Given the description of an element on the screen output the (x, y) to click on. 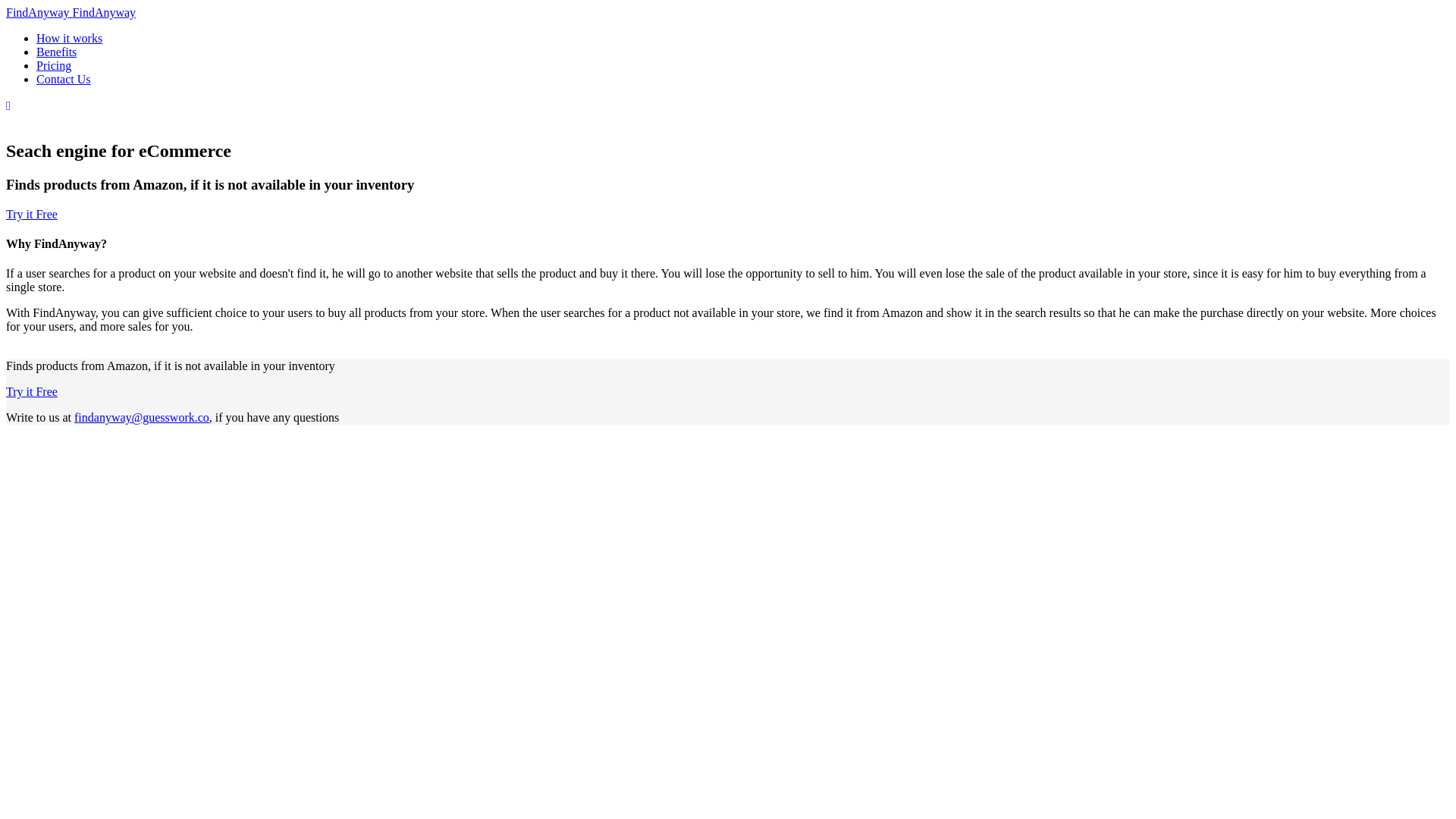
Contact Us (63, 78)
FindAnyway (104, 11)
Pricing (53, 65)
Try it Free (31, 391)
Benefits (56, 51)
How it works (68, 38)
FindAnyway (38, 11)
Try it Free (31, 214)
